Given the description of an element on the screen output the (x, y) to click on. 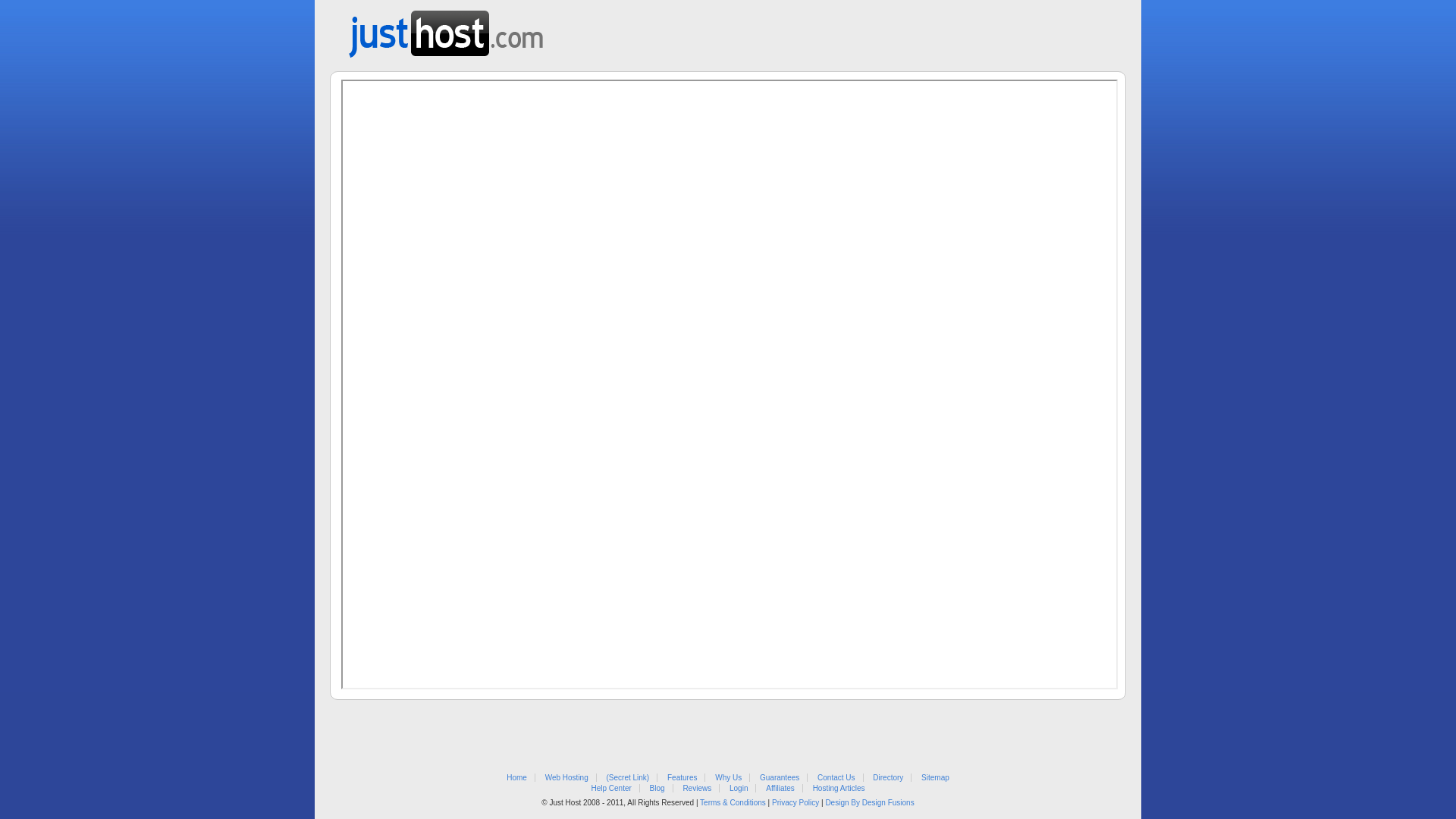
Guarantees Element type: text (779, 777)
Design By Design Fusions Element type: text (869, 802)
Login Element type: text (738, 788)
Features Element type: text (681, 777)
Privacy Policy Element type: text (795, 802)
Why Us Element type: text (728, 777)
Affiliates Element type: text (779, 788)
Help Center Element type: text (610, 788)
Hosting Articles Element type: text (838, 788)
Web Hosting Element type: text (566, 777)
Terms & Conditions Element type: text (732, 802)
Reviews Element type: text (696, 788)
Directory Element type: text (887, 777)
Contact Us Element type: text (835, 777)
Blog Element type: text (657, 788)
Web Hosting from Just Host Element type: text (445, 28)
Sitemap Element type: text (935, 777)
Home Element type: text (516, 777)
(Secret Link) Element type: text (627, 777)
